Given the description of an element on the screen output the (x, y) to click on. 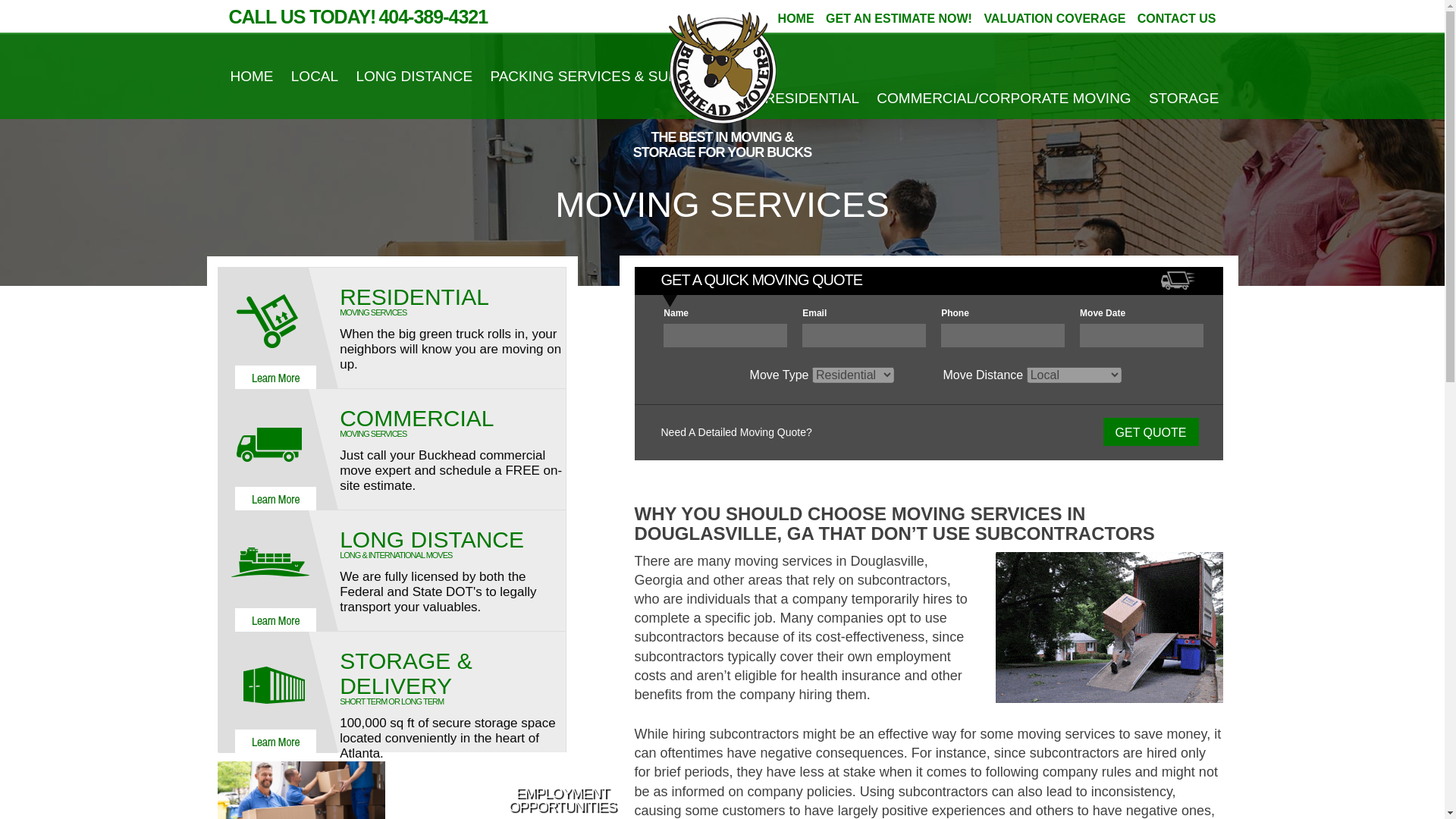
LONG DISTANCE (413, 75)
VALUATION COVERAGE (1054, 18)
Get Quote (1150, 431)
LOCAL (314, 75)
CONTACT US (1176, 18)
Need A Detailed Moving Quote? (736, 431)
Get Quote (1150, 431)
HOME (795, 18)
Moving Services Douglasville GA (1108, 627)
GET AN ESTIMATE NOW! (898, 18)
RESIDENTIAL (811, 97)
HOME (251, 75)
STORAGE (1184, 97)
